Given the description of an element on the screen output the (x, y) to click on. 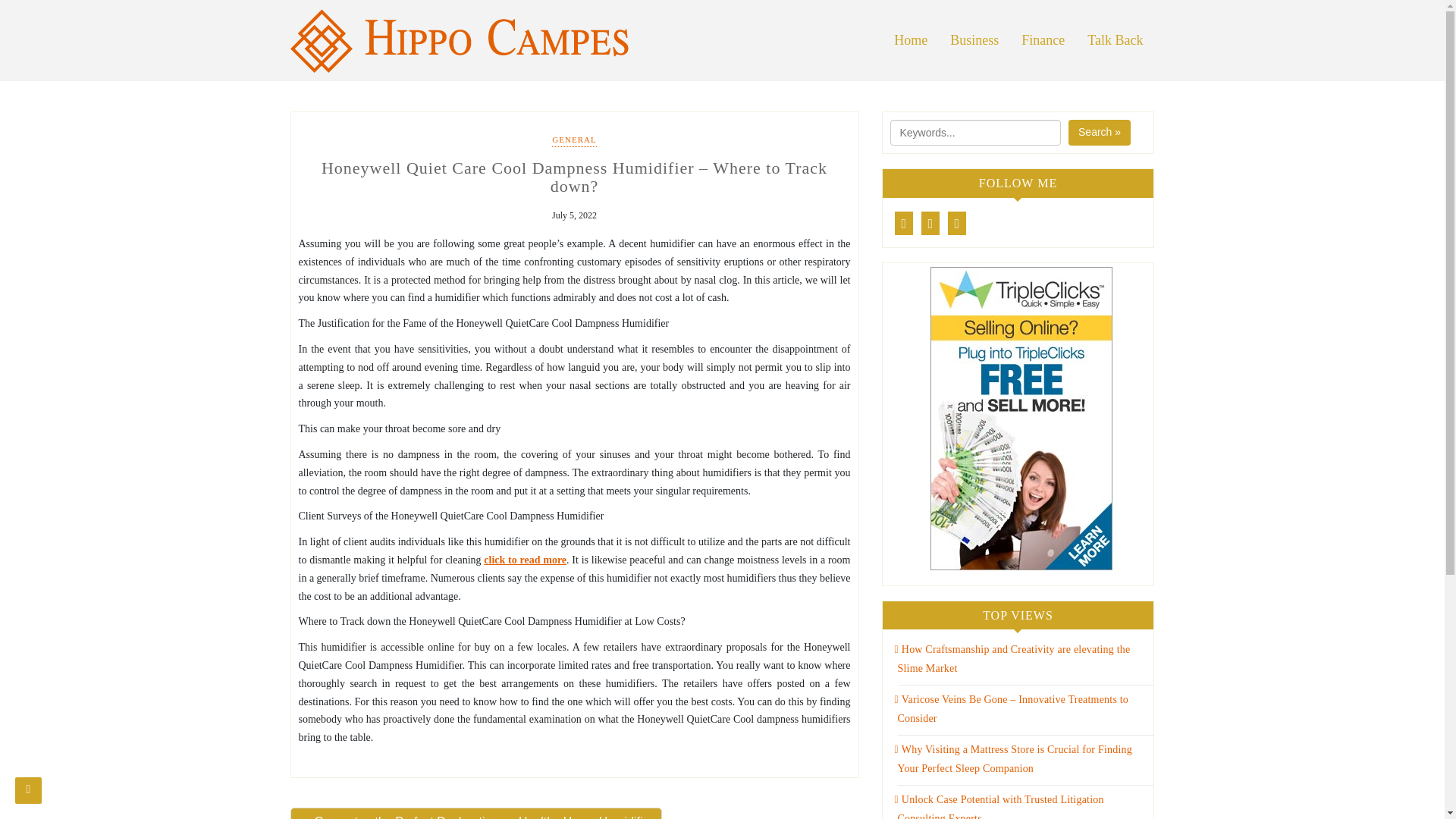
click to read more (524, 559)
GENERAL (573, 141)
Talk Back (1114, 40)
